Given the description of an element on the screen output the (x, y) to click on. 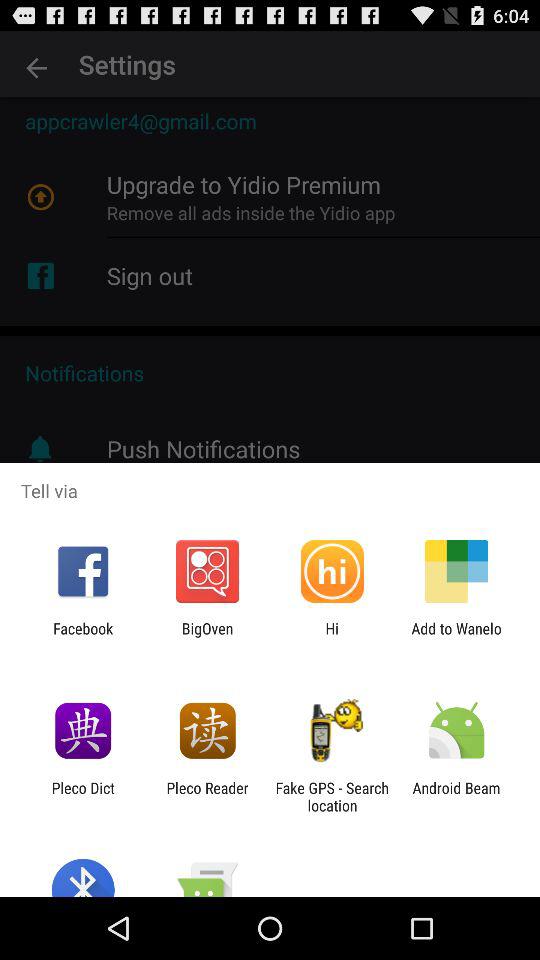
launch app next to the fake gps search item (456, 796)
